Given the description of an element on the screen output the (x, y) to click on. 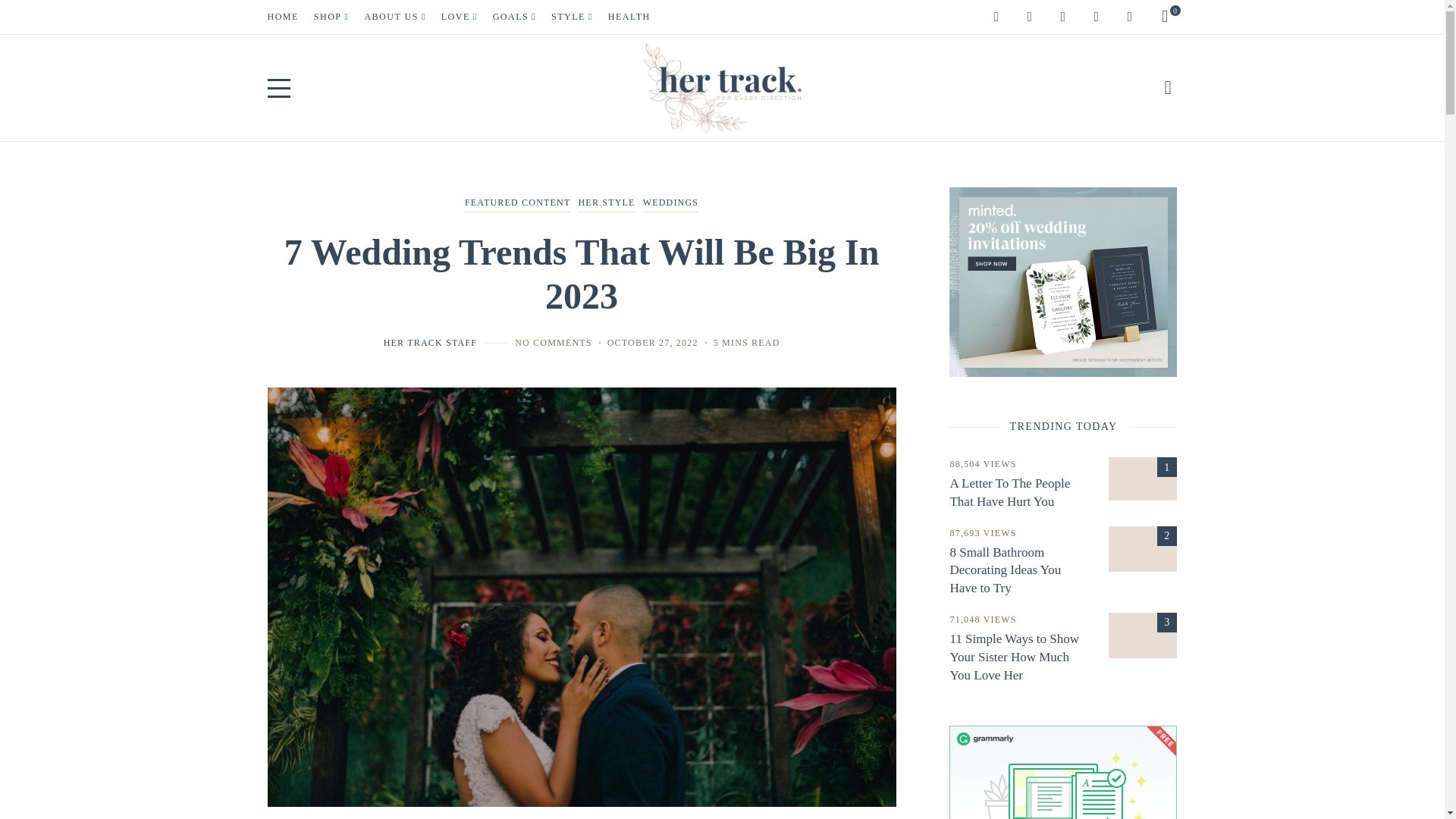
ABOUT US (394, 17)
LOVE (458, 17)
HEALTH (628, 17)
LinkedIn (1129, 16)
Categories (581, 203)
Instagram (996, 16)
HOME (282, 17)
Pinterest (1029, 16)
Twitter (1096, 16)
